Given the description of an element on the screen output the (x, y) to click on. 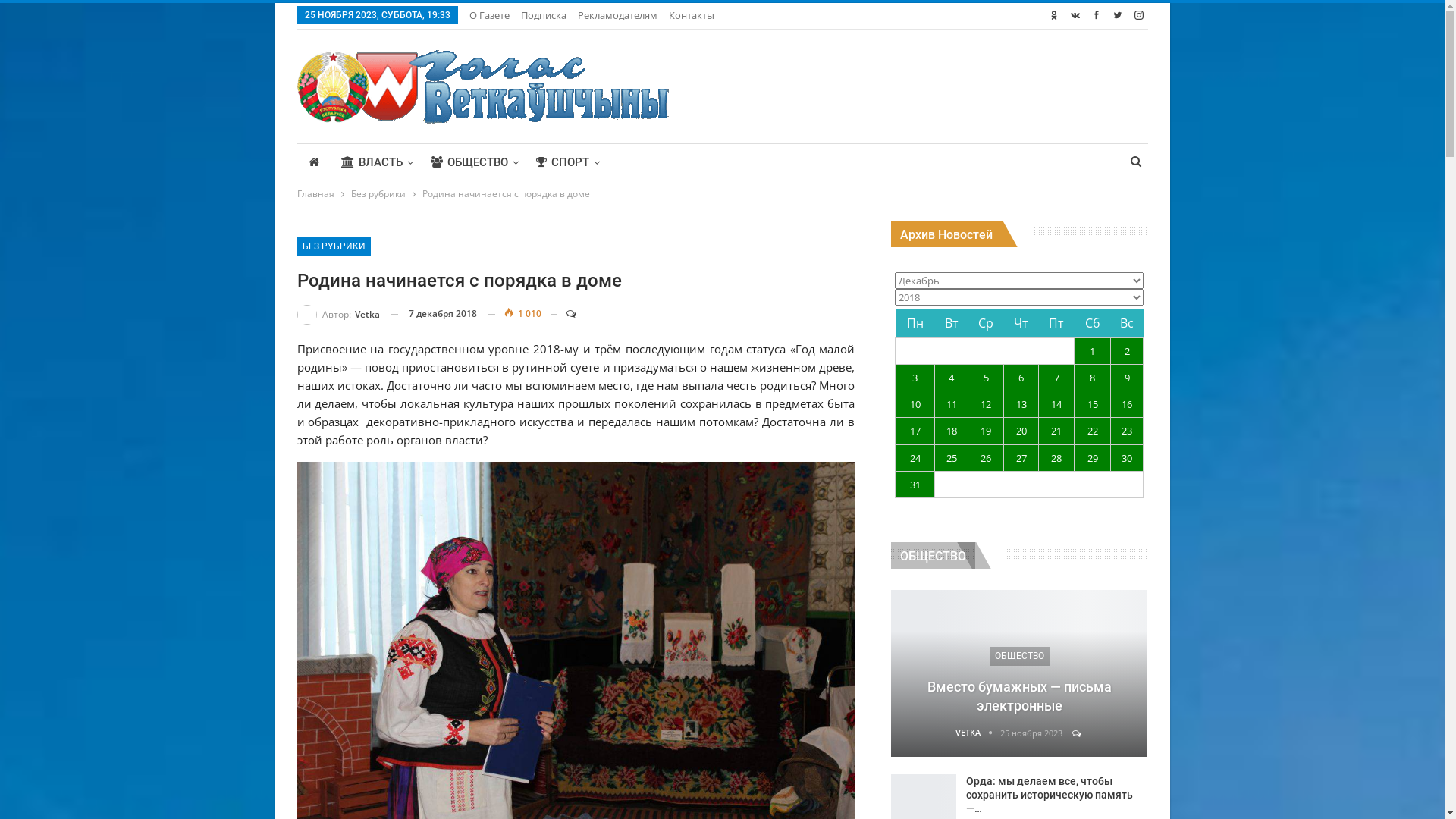
6 Element type: text (1020, 377)
19 Element type: text (986, 430)
18 Element type: text (950, 430)
8 Element type: text (1092, 377)
9 Element type: text (1126, 377)
29 Element type: text (1092, 457)
12 Element type: text (986, 404)
10 Element type: text (914, 404)
25 Element type: text (950, 457)
22 Element type: text (1092, 430)
21 Element type: text (1056, 430)
11 Element type: text (950, 404)
2 Element type: text (1126, 351)
13 Element type: text (1020, 404)
17 Element type: text (914, 430)
7 Element type: text (1056, 377)
26 Element type: text (986, 457)
VETKA Element type: text (977, 732)
27 Element type: text (1020, 457)
20 Element type: text (1020, 430)
24 Element type: text (914, 457)
31 Element type: text (914, 484)
14 Element type: text (1056, 404)
28 Element type: text (1056, 457)
15 Element type: text (1092, 404)
30 Element type: text (1126, 457)
5 Element type: text (986, 377)
3 Element type: text (914, 377)
23 Element type: text (1126, 430)
1 Element type: text (1092, 351)
16 Element type: text (1126, 404)
4 Element type: text (950, 377)
